Given the description of an element on the screen output the (x, y) to click on. 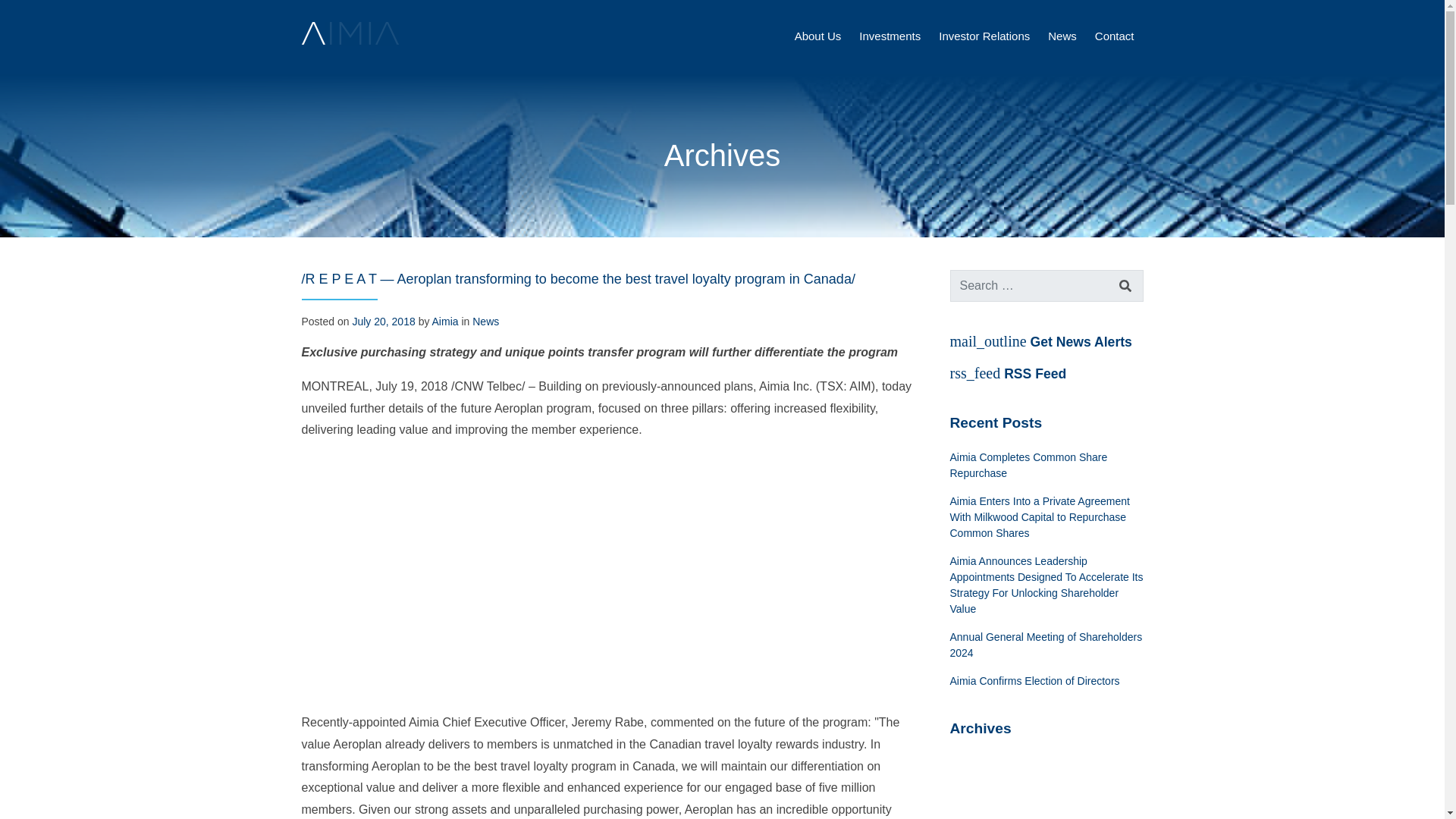
Contact (1114, 36)
Investor Relations (984, 36)
Annual General Meeting of Shareholders 2024 (1045, 645)
Investments (889, 36)
About Us (817, 36)
July 20, 2018 (383, 321)
Aimia Completes Common Share Repurchase (1045, 465)
Investor Relations (984, 36)
Search (1125, 284)
News (485, 321)
Aimia (445, 321)
Investments (889, 36)
Aimia Confirms Election of Directors (1045, 681)
